Given the description of an element on the screen output the (x, y) to click on. 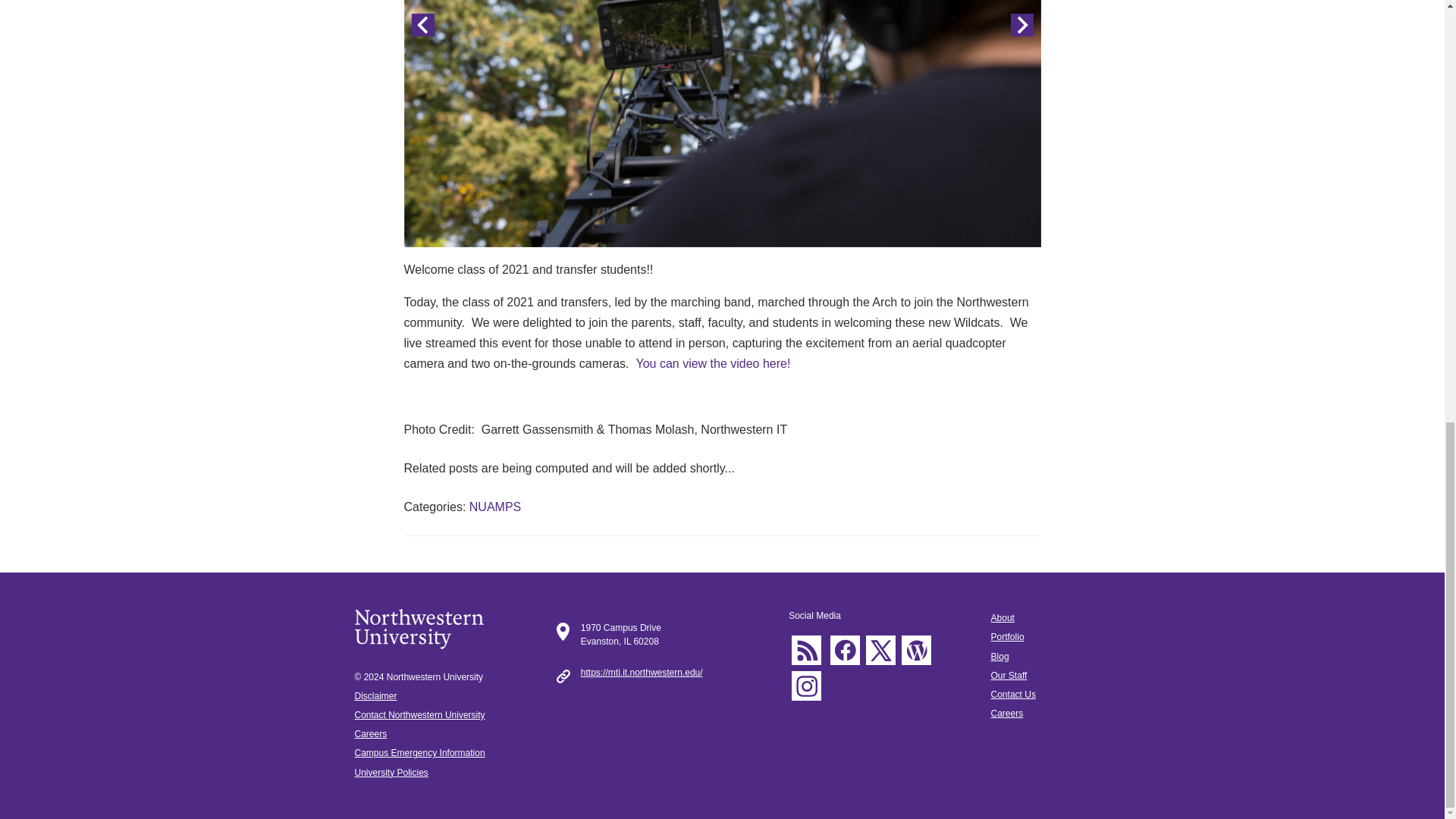
Disclaimer (376, 696)
University Policies (391, 772)
You can view the video here! (712, 363)
Careers (371, 733)
Campus Emergency Information (419, 752)
Contact Northwestern University (419, 715)
NUAMPS (494, 506)
